Given the description of an element on the screen output the (x, y) to click on. 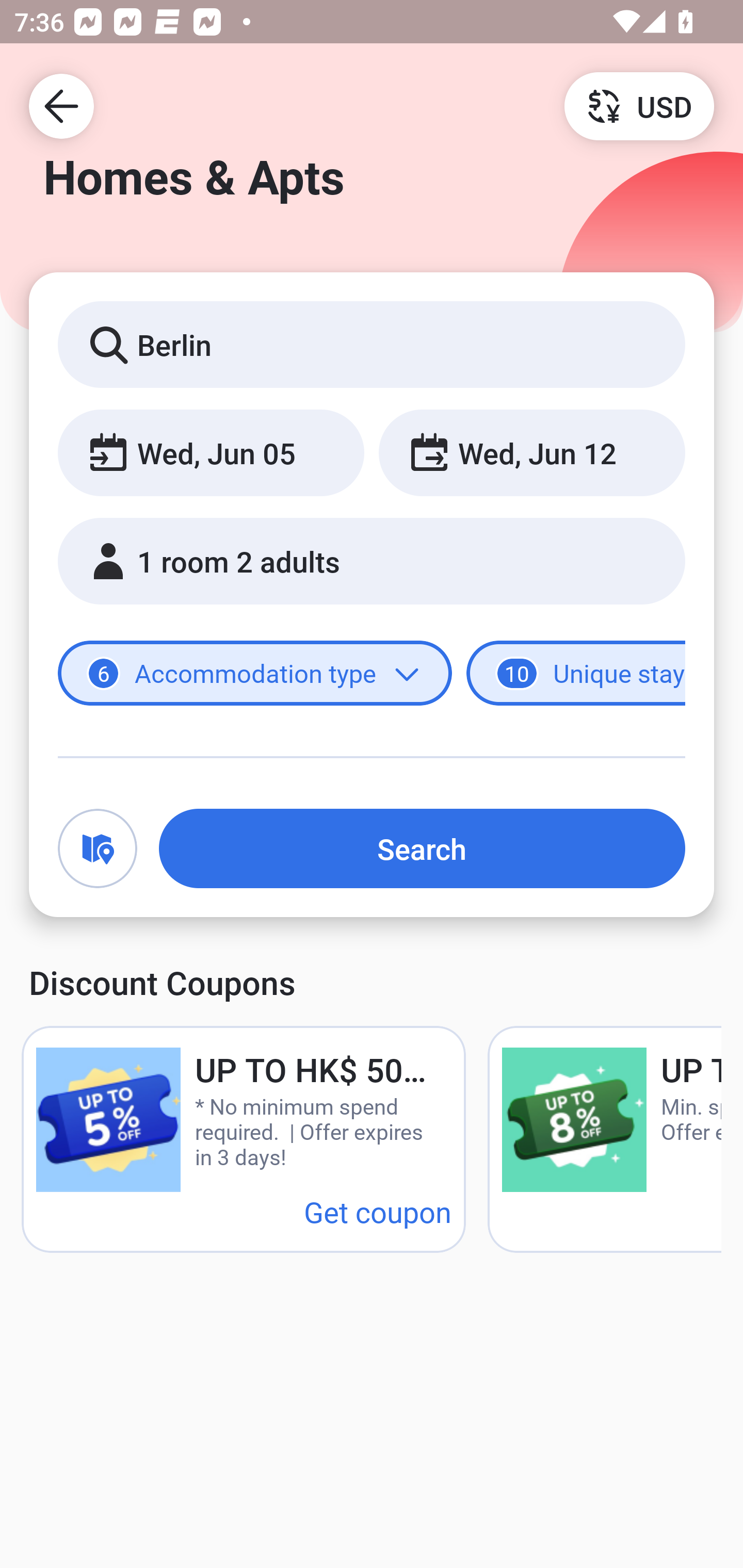
USD (639, 105)
Berlin (371, 344)
Wed, Jun 05 (210, 452)
Wed, Jun 12 (531, 452)
1 room 2 adults (371, 561)
6 Accommodation type (254, 673)
10 Unique stays (575, 673)
Search (422, 848)
Get coupon (377, 1211)
